Given the description of an element on the screen output the (x, y) to click on. 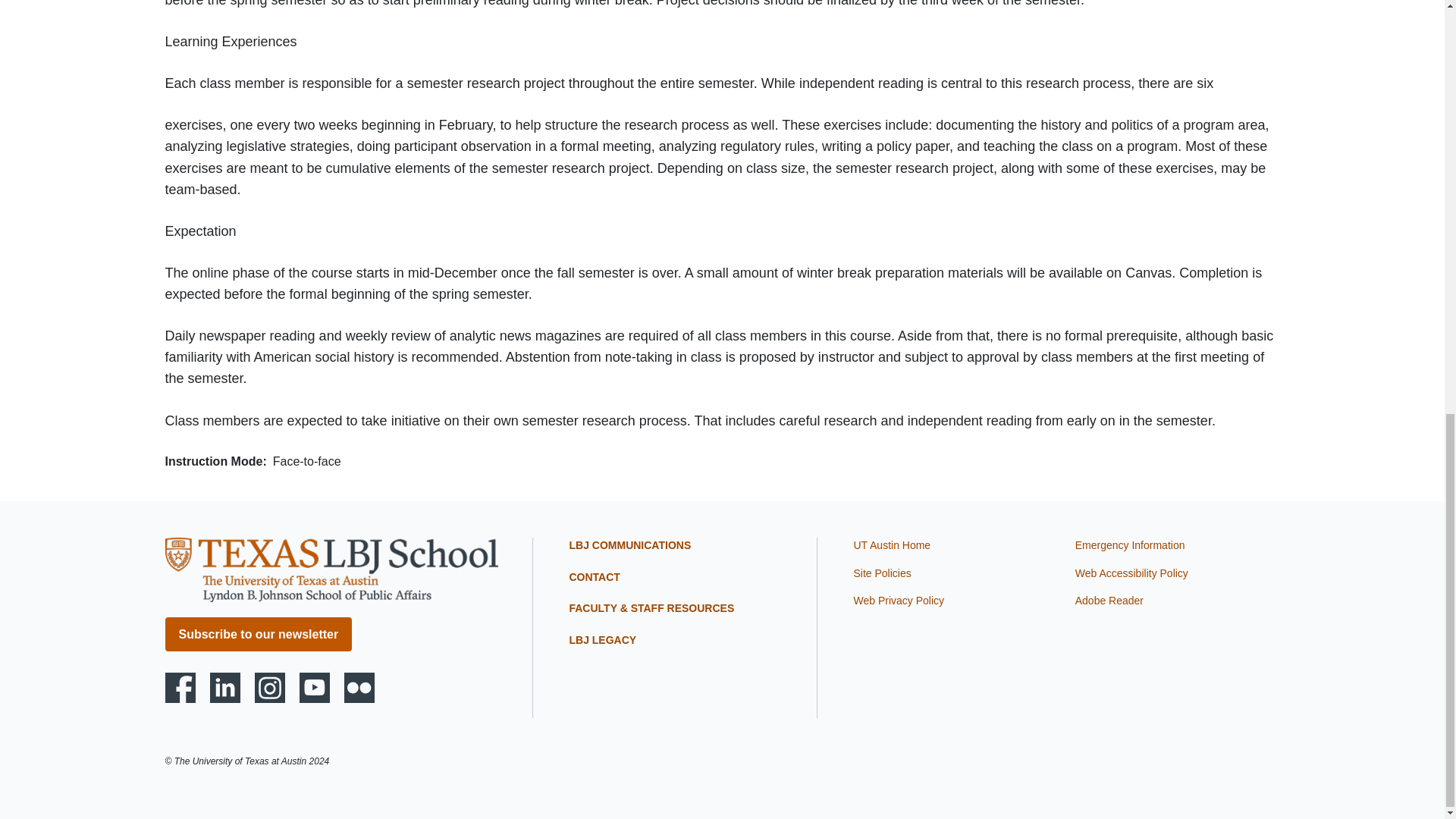
flickrSee us on flickr (358, 687)
FacebookFind us on Facebook (180, 687)
InstagramSee us on Instagram (269, 687)
Home (331, 567)
YoutubeSee us on Youtube (314, 687)
LinkedinFind us on Linkedin (224, 687)
